Given the description of an element on the screen output the (x, y) to click on. 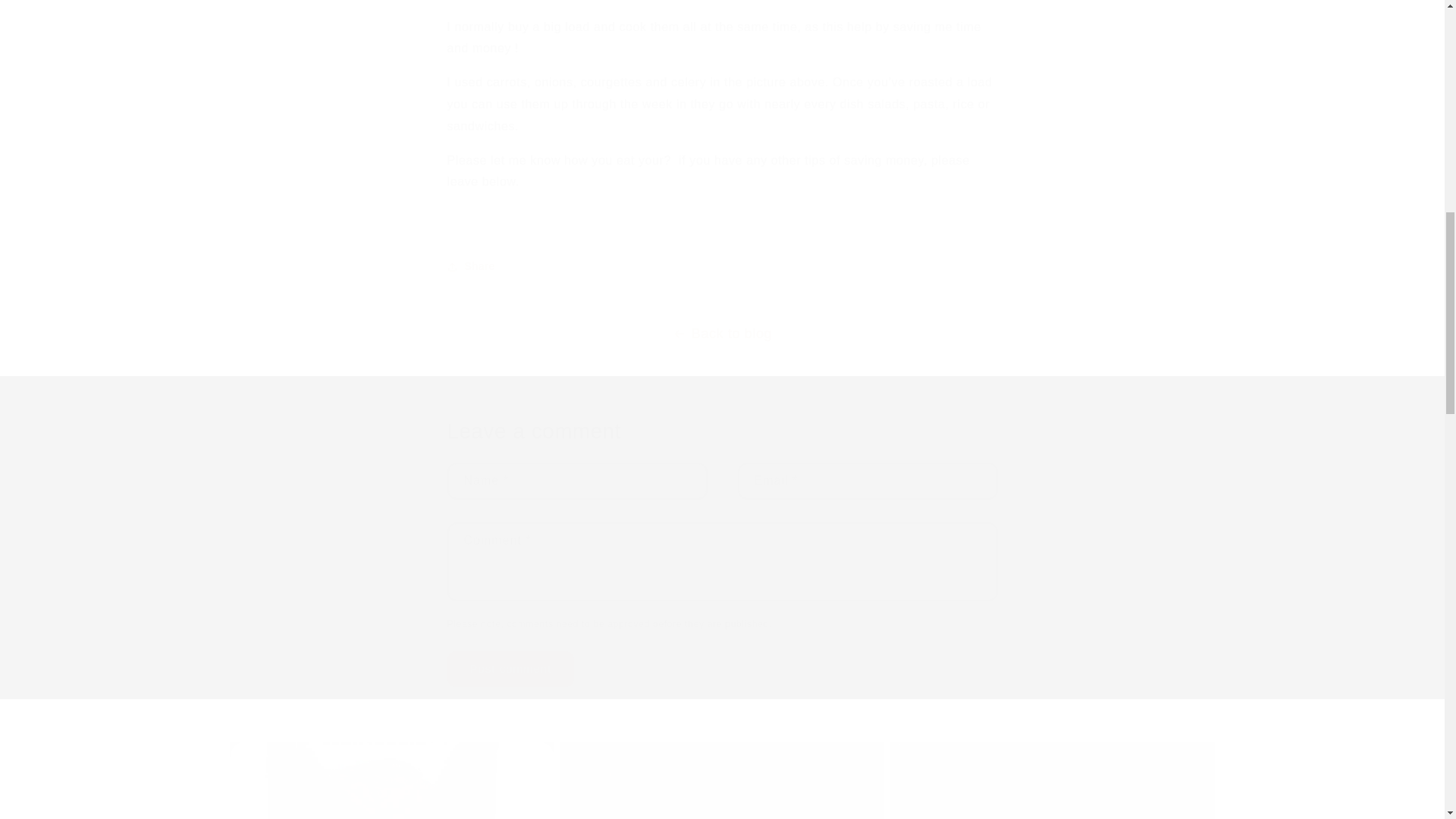
Share (721, 266)
Post comment (510, 668)
